Given the description of an element on the screen output the (x, y) to click on. 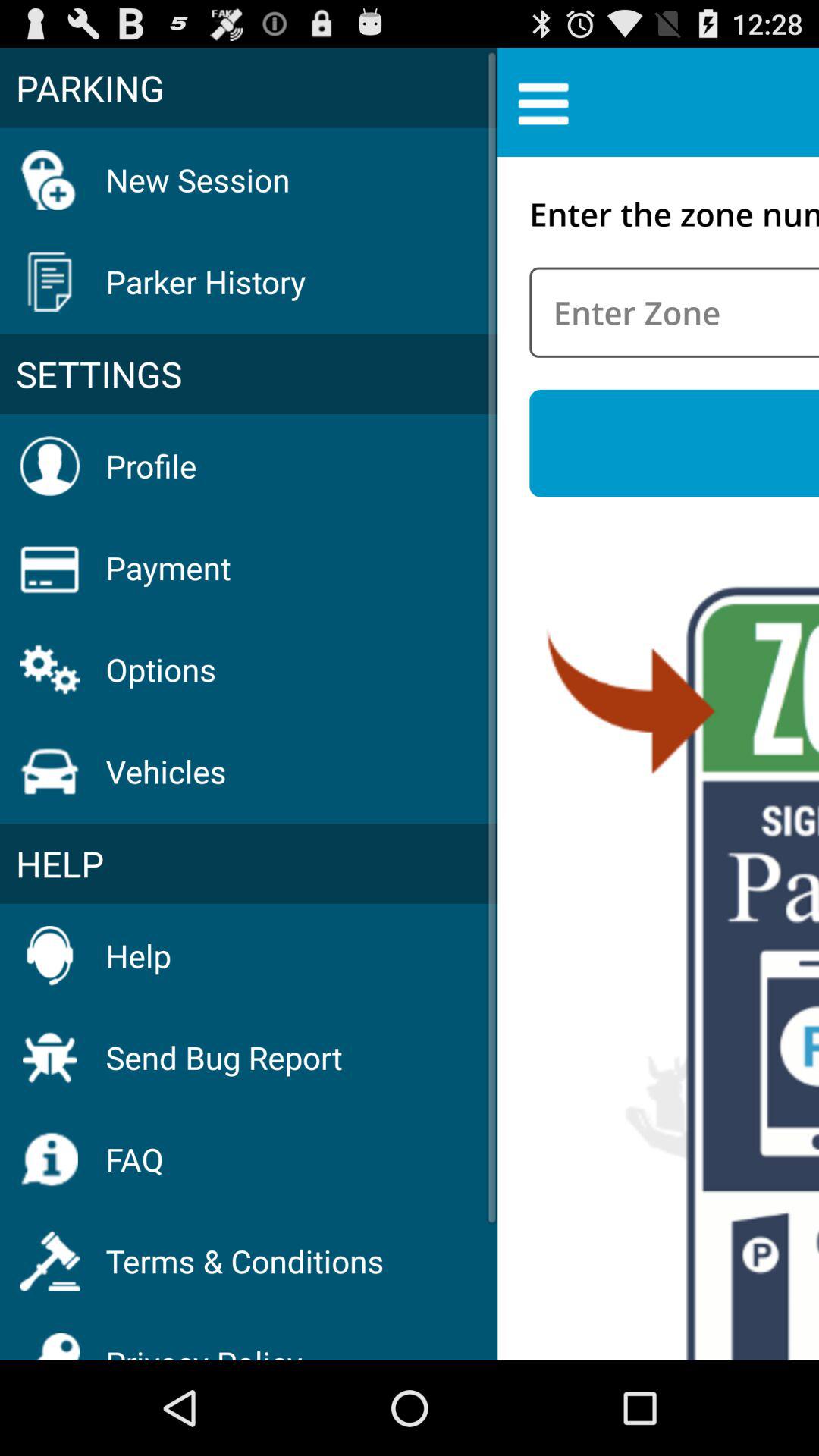
swipe to the faq item (134, 1158)
